Given the description of an element on the screen output the (x, y) to click on. 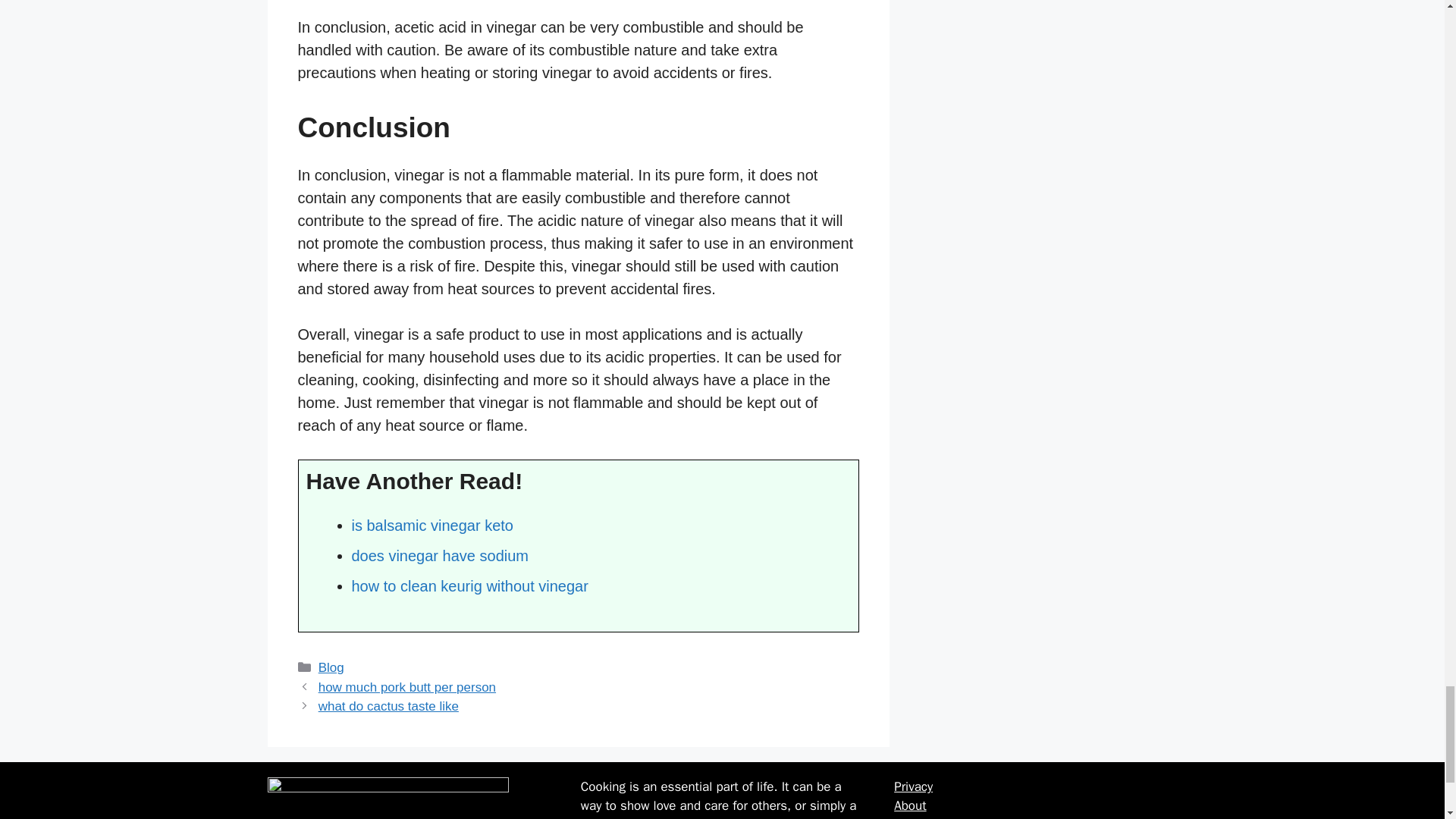
how much pork butt per person (407, 687)
Blog (330, 667)
Privacy (913, 786)
does vinegar have sodium (440, 555)
how to clean keurig without vinegar (470, 586)
what do cactus taste like (388, 706)
is balsamic vinegar keto (432, 524)
